Given the description of an element on the screen output the (x, y) to click on. 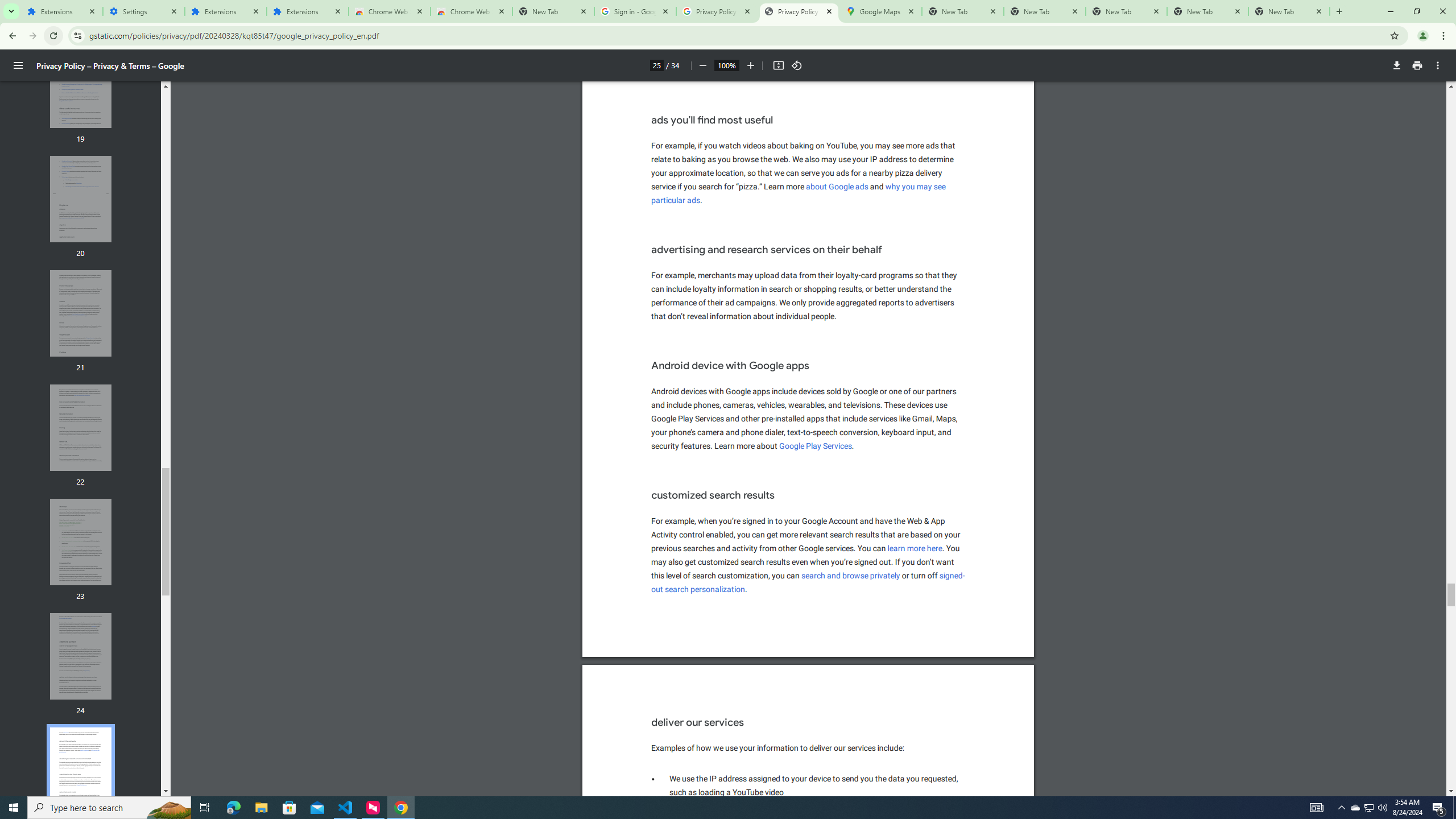
Extensions (307, 11)
Google Maps (880, 11)
Chrome Web Store (389, 11)
Rotate counterclockwise (796, 65)
Extensions (61, 11)
More actions (1437, 65)
Thumbnail for page 21 (80, 313)
why you may see (915, 186)
